Given the description of an element on the screen output the (x, y) to click on. 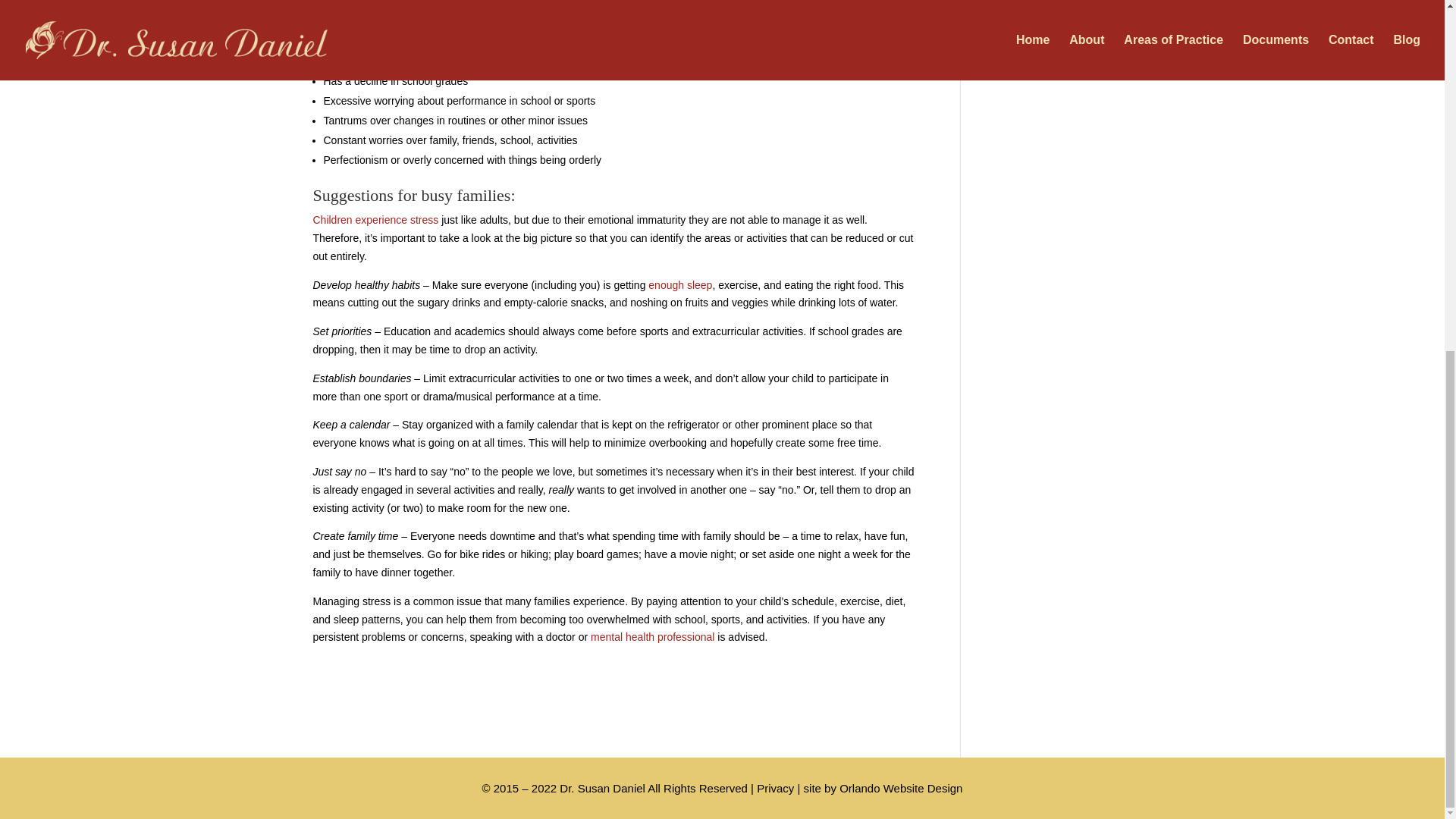
How Much Sleep Do Children Really Need? (679, 285)
Contact (652, 636)
Children experience stress (375, 219)
Privacy (775, 788)
mental health professional (652, 636)
enough sleep (679, 285)
Orlando Website Design (901, 788)
